Given the description of an element on the screen output the (x, y) to click on. 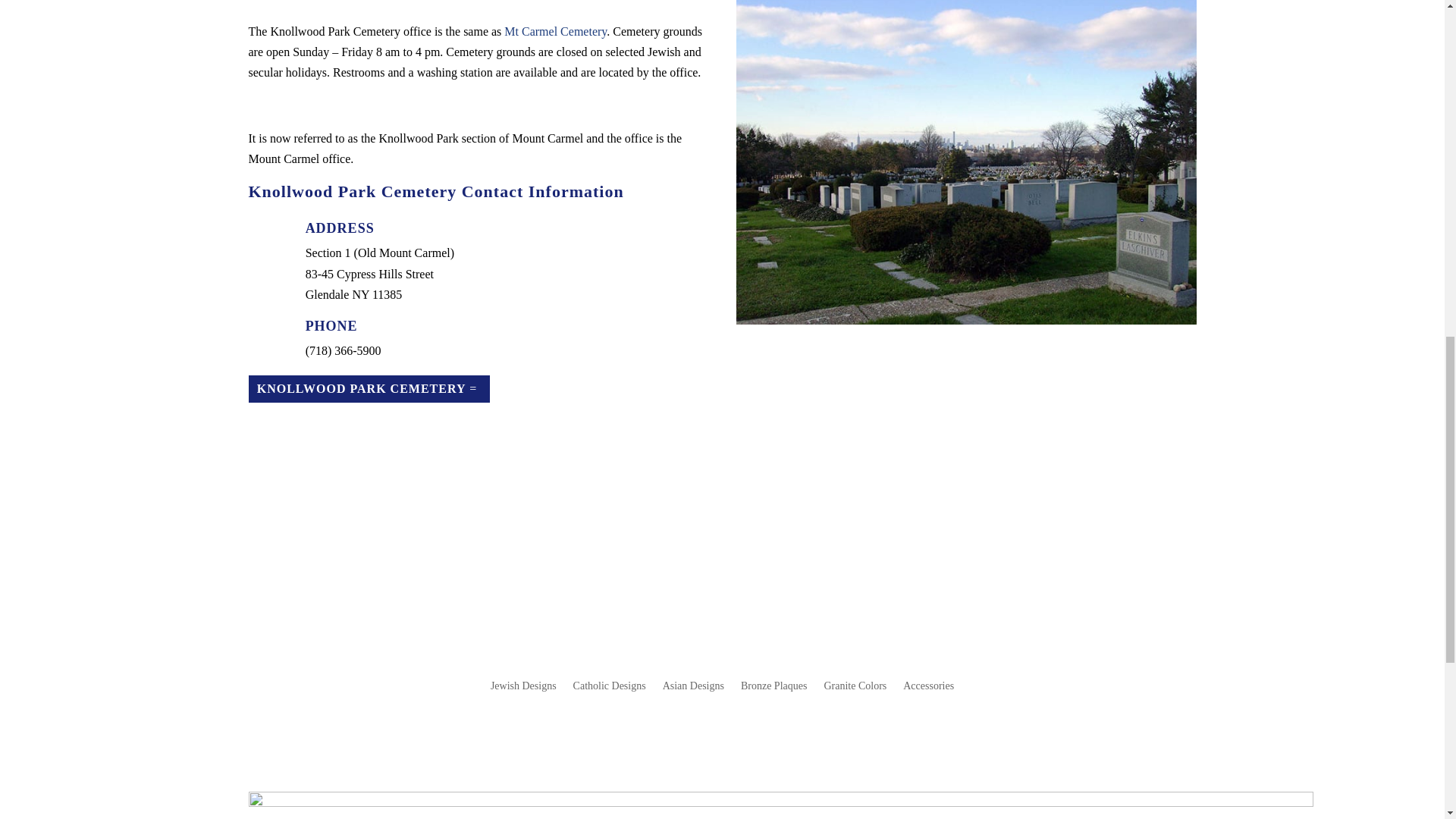
Bronze Plaques (773, 688)
Mt Carmel Cemetery (555, 31)
Asian Designs (692, 688)
Granite Colors (855, 688)
KNOLLWOOD PARK CEMETERY (369, 389)
Jewish Designs (523, 688)
Accessories (927, 688)
Shastone Logo vector file copy (780, 805)
Catholic Designs (609, 688)
